Given the description of an element on the screen output the (x, y) to click on. 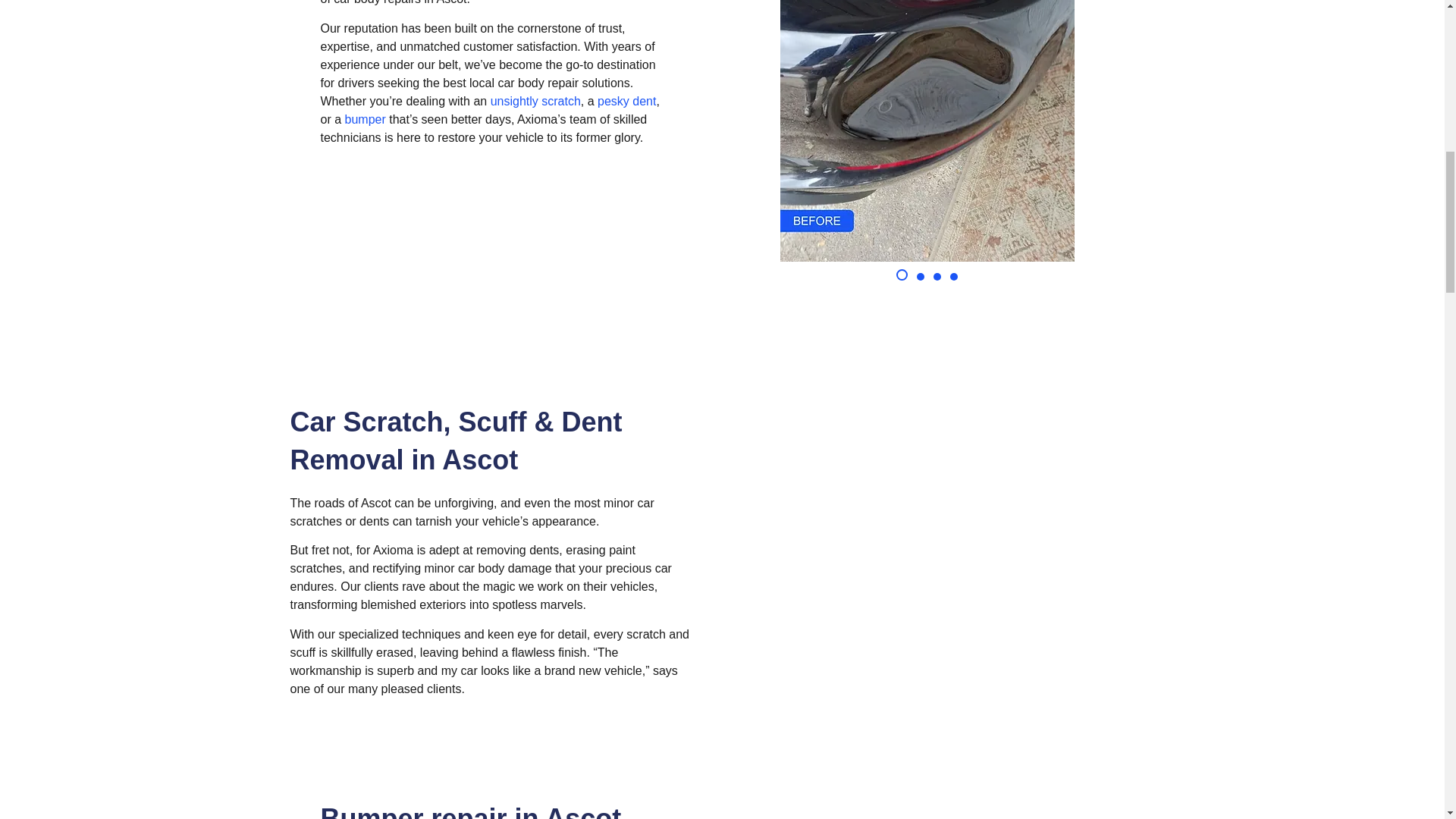
unsightly scratch (535, 101)
bumper (365, 119)
pesky dent (626, 101)
